Given the description of an element on the screen output the (x, y) to click on. 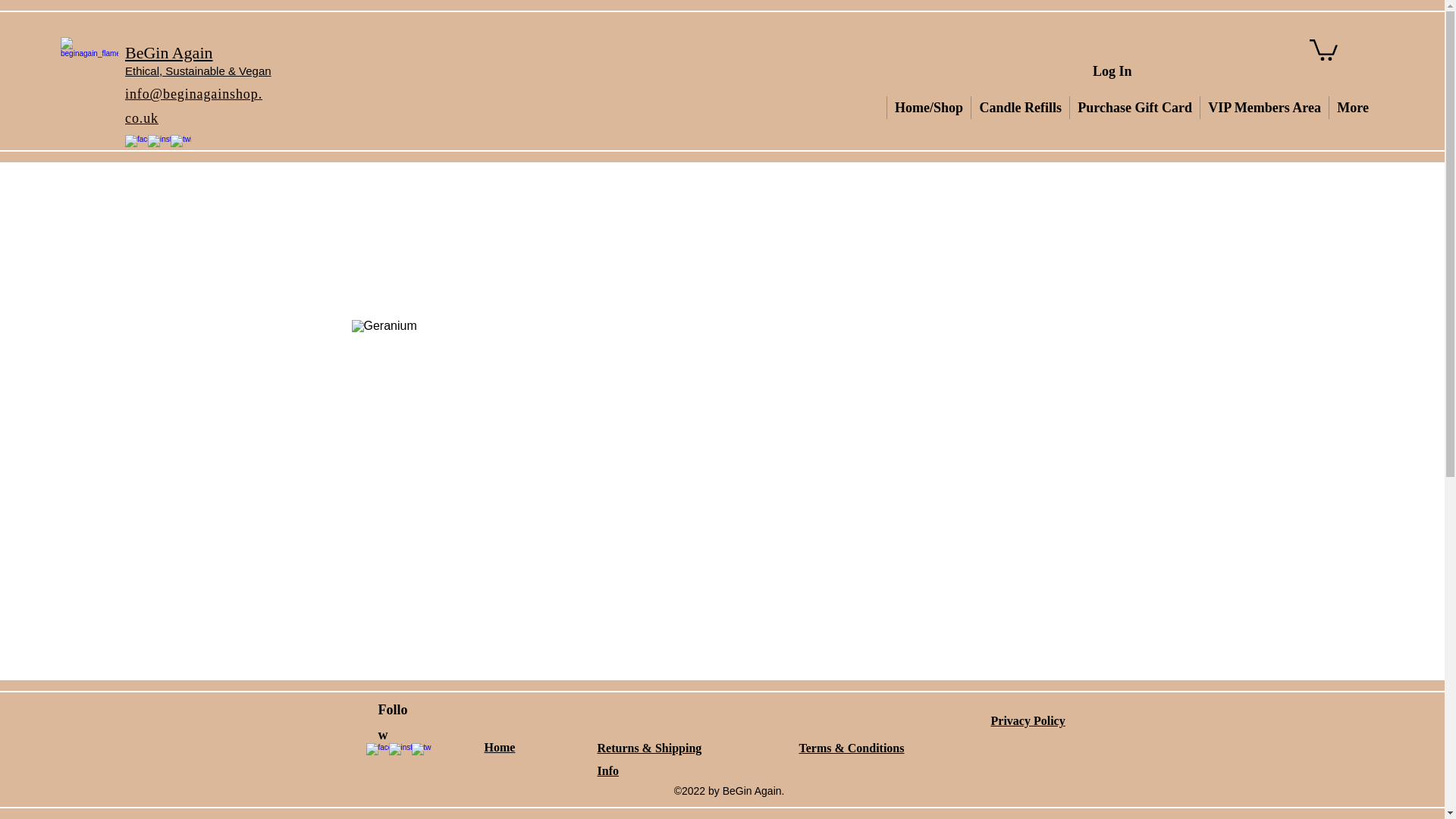
Purchase Gift Card (1133, 107)
Candle Refills (1019, 107)
BeGin Again (168, 52)
VIP Members Area (1263, 107)
Log In (1111, 71)
